Given the description of an element on the screen output the (x, y) to click on. 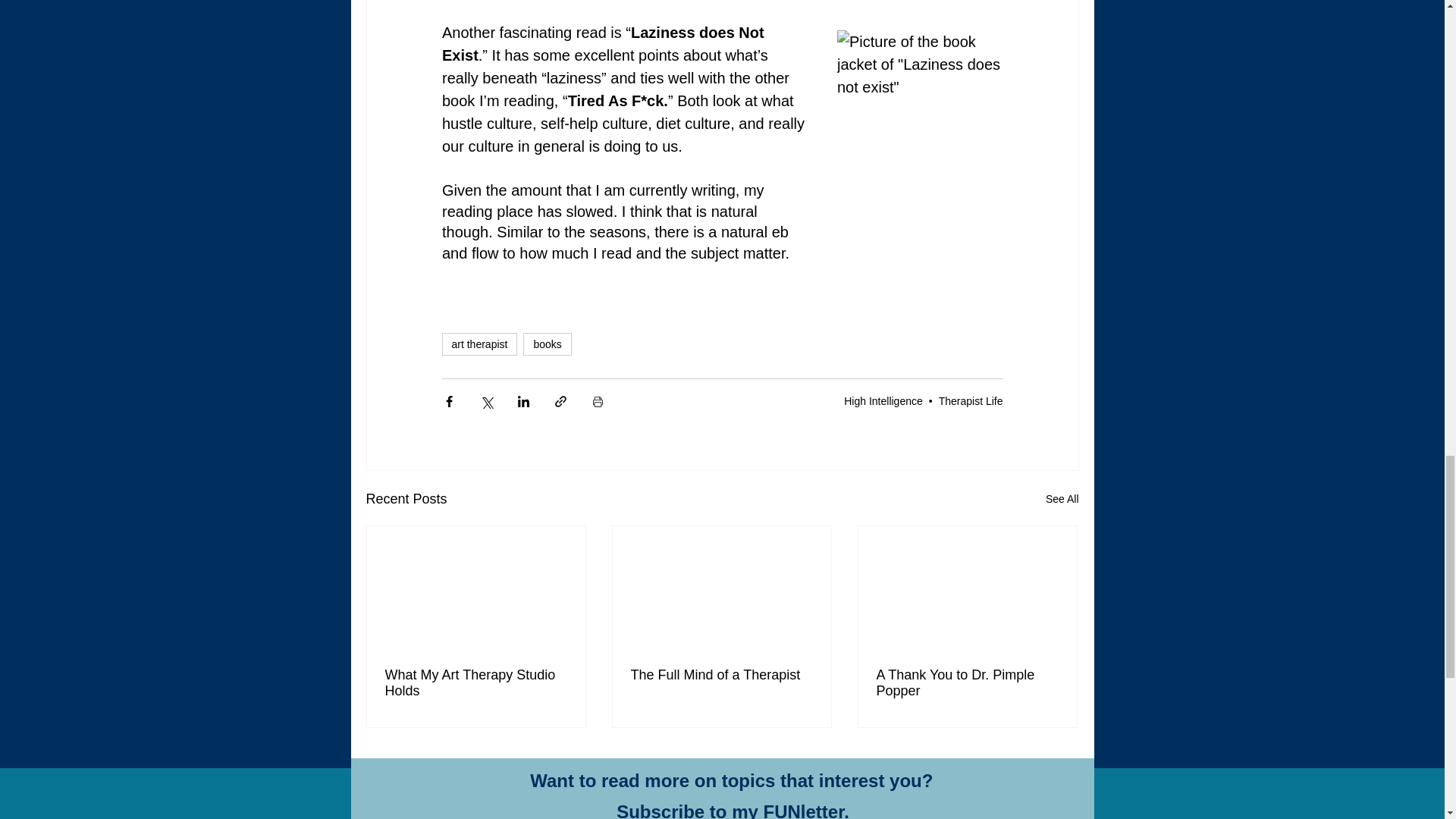
What My Art Therapy Studio Holds (476, 683)
The Full Mind of a Therapist (721, 675)
art therapist (478, 343)
Therapist Life (971, 400)
See All (1061, 499)
books (546, 343)
A Thank You to Dr. Pimple Popper (967, 683)
High Intelligence (883, 400)
